Given the description of an element on the screen output the (x, y) to click on. 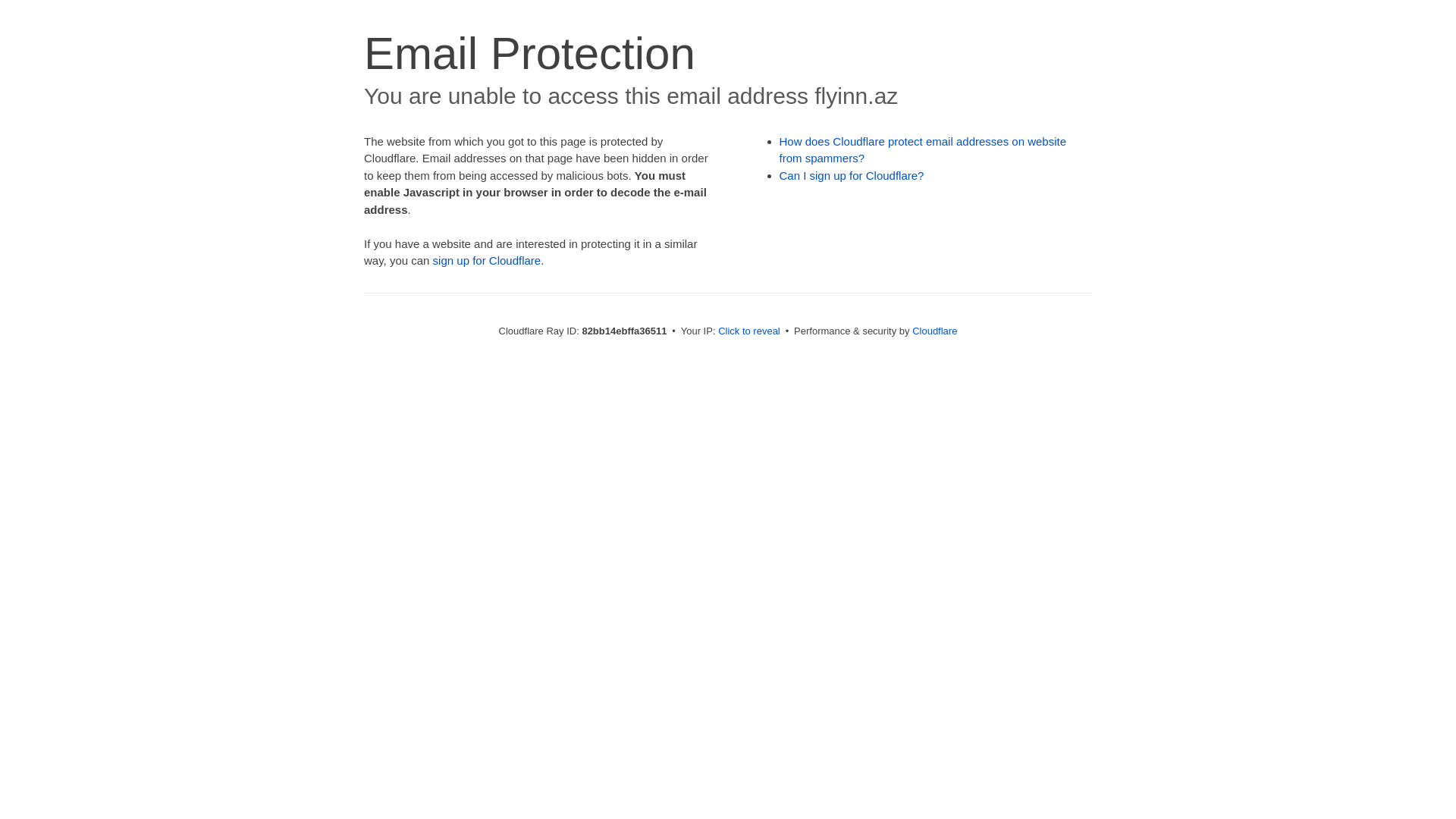
Click to reveal Element type: text (749, 330)
Cloudflare Element type: text (934, 330)
sign up for Cloudflare Element type: text (487, 260)
Can I sign up for Cloudflare? Element type: text (851, 175)
